Given the description of an element on the screen output the (x, y) to click on. 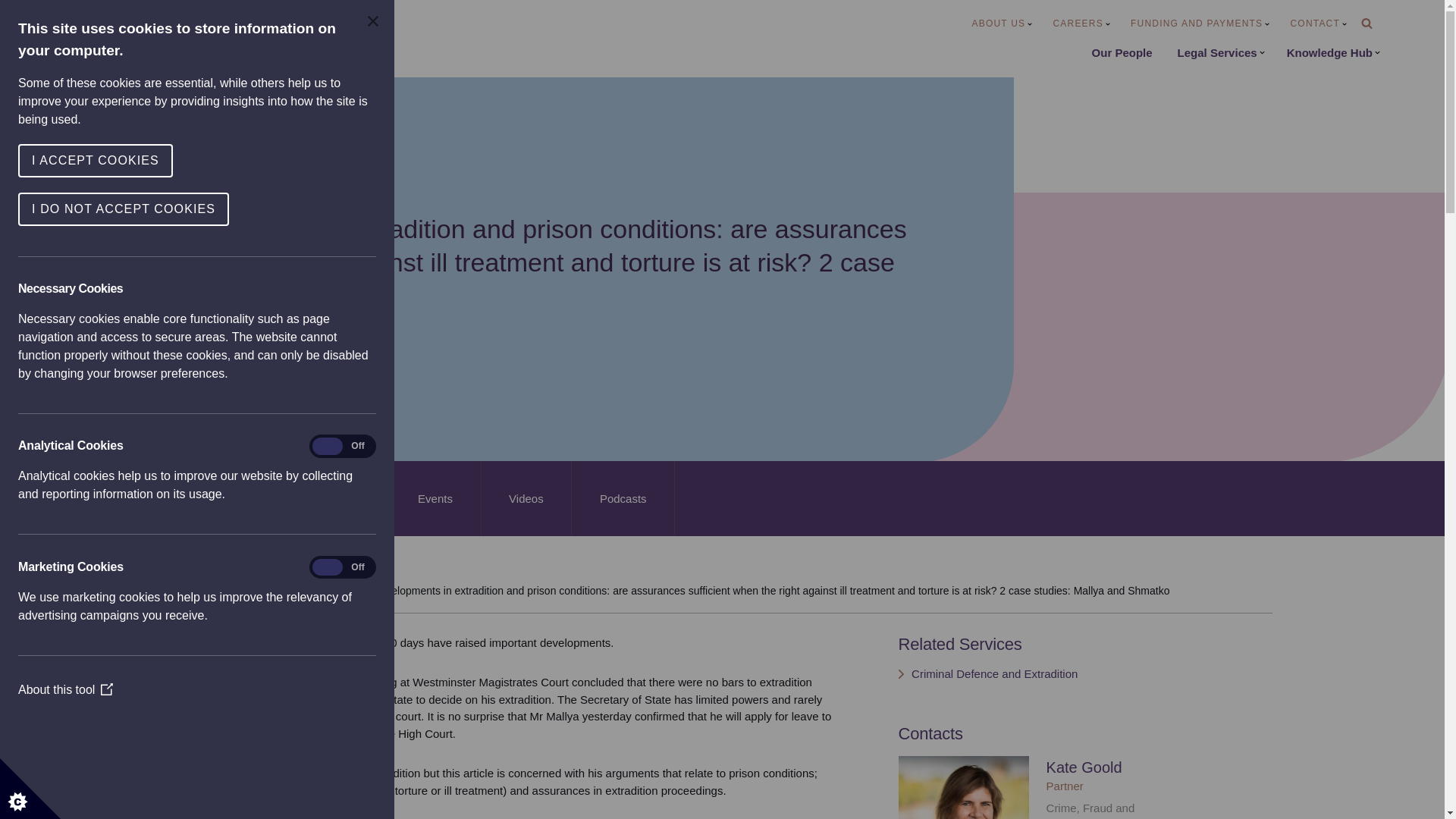
CAREERS (1080, 24)
I DO NOT ACCEPT COOKIES (44, 209)
FUNDING AND PAYMENTS (1200, 24)
Legal Services (1221, 52)
Our People (1122, 52)
Skip to content (11, 31)
CONTACT (1318, 24)
ABOUT US (1002, 24)
